Given the description of an element on the screen output the (x, y) to click on. 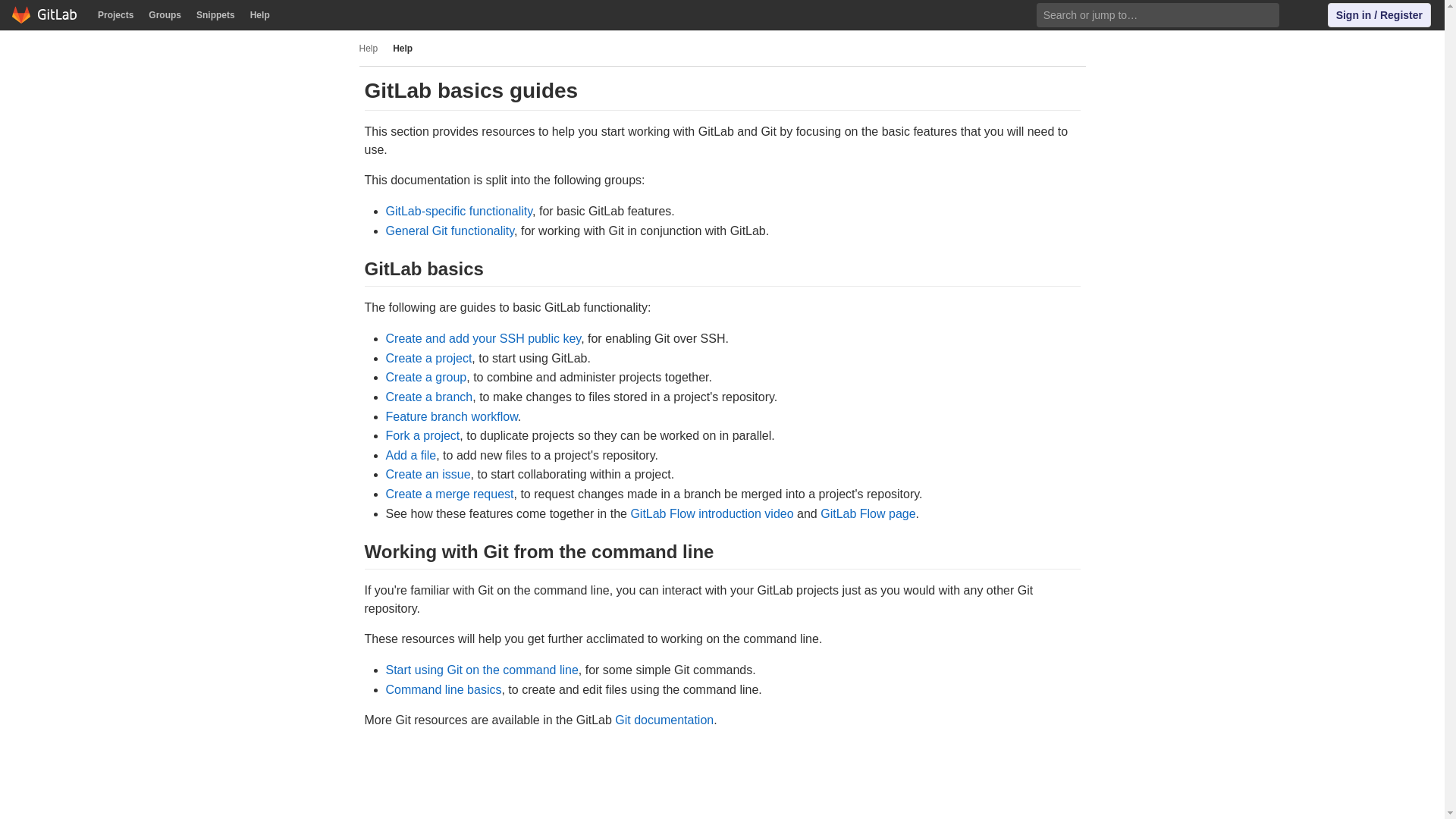
Create an issue (427, 473)
Groups (164, 15)
Groups (164, 15)
GitLab Flow page (868, 512)
Help (260, 15)
Create a branch (428, 396)
Create and add your SSH public key (482, 338)
Help (368, 48)
Create a merge request (449, 493)
Create a project (428, 358)
